Given the description of an element on the screen output the (x, y) to click on. 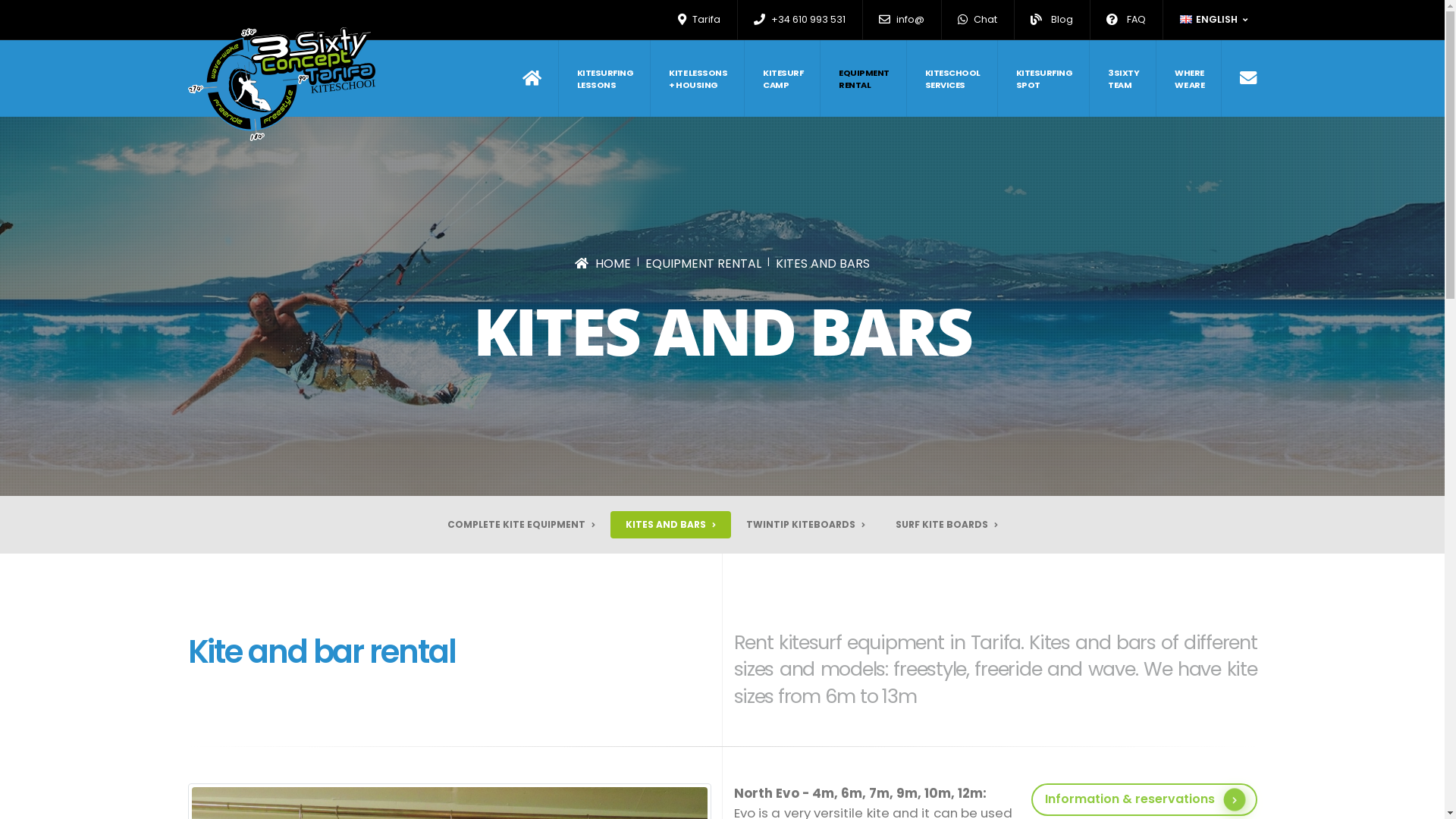
HOME Element type: text (602, 263)
COMPLETE KITE EQUIPMENT Element type: text (521, 524)
ENGLISH Element type: text (1214, 19)
TWINTIP KITEBOARDS Element type: text (805, 524)
3SIXTY TEAM Element type: text (1123, 78)
Home Element type: hover (540, 78)
Chat Element type: text (977, 19)
KITE LESSONS + HOUSING Element type: text (698, 78)
info@ Element type: text (901, 19)
EQUIPMENT RENTAL Element type: text (703, 263)
EQUIPMENT RENTAL Element type: text (864, 78)
KITESURFING SPOT Element type: text (1044, 78)
Information & reservations Element type: text (1144, 799)
WHERE WE ARE Element type: text (1189, 78)
KITESURFING LESSONS Element type: text (604, 78)
+34 610 993 531 Element type: text (799, 19)
FAQ Element type: text (1126, 19)
KITES AND BARS Element type: text (822, 263)
SURF KITE BOARDS Element type: text (945, 524)
Blog Element type: text (1051, 19)
Home - 3Sixty Kite School Tarifa Element type: hover (281, 83)
KITESCHOOL SERVICES Element type: text (952, 78)
Tarifa Element type: text (698, 19)
KITESURF CAMP Element type: text (783, 78)
KITES AND BARS Element type: text (669, 524)
